Given the description of an element on the screen output the (x, y) to click on. 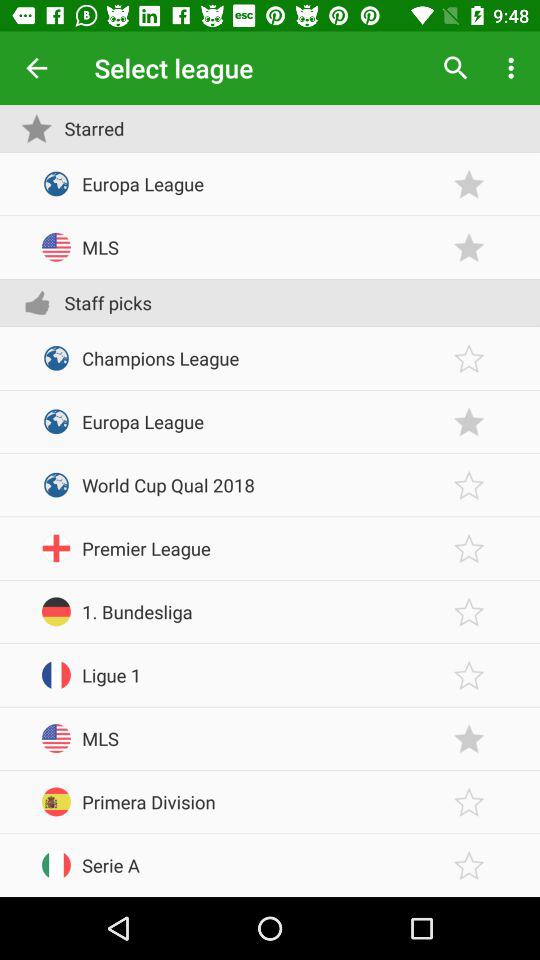
clique para adicionar a seus favoritos (469, 484)
